Given the description of an element on the screen output the (x, y) to click on. 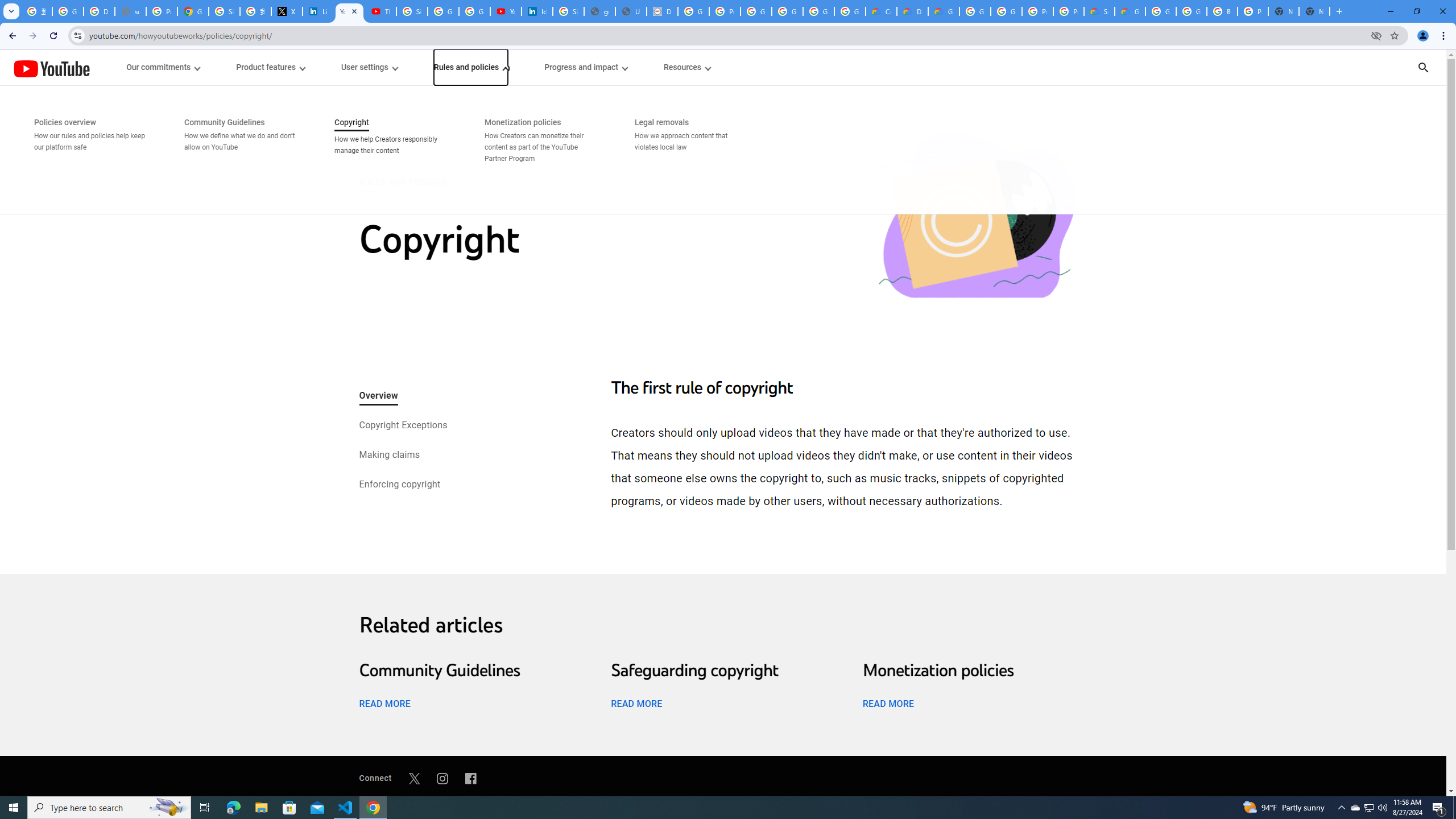
Address and search bar (726, 35)
Google Workspace - Specific Terms (849, 11)
Our commitments menupopup (163, 67)
Facebook (470, 778)
Sign in - Google Accounts (568, 11)
Play (723, 469)
Resources menupopup (686, 67)
Search (1438, 67)
support.google.com - Network error (130, 11)
